Given the description of an element on the screen output the (x, y) to click on. 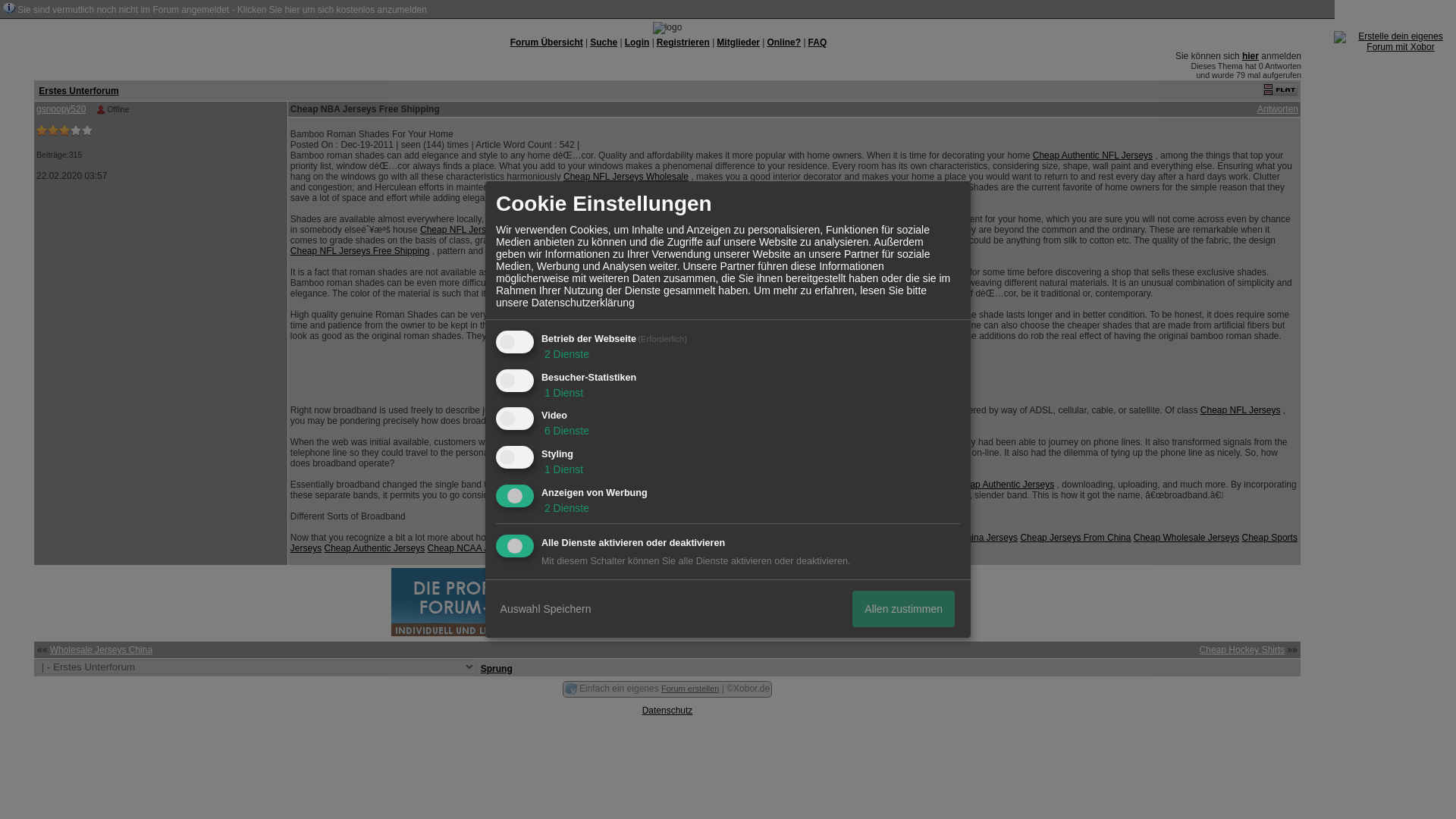
FAQ (817, 41)
Cheap NFL Jerseys Free Shipping (359, 250)
Cheap NBA Jerseys Free Shipping (805, 547)
Suche (603, 41)
Cheap Jerseys From China (1075, 537)
Cheap NCAA Jerseys (471, 547)
Wholesale Jerseys China (100, 649)
Online? (783, 41)
Cheap Wholesale Jerseys (1186, 537)
Erstes Unterforum (78, 90)
